Given the description of an element on the screen output the (x, y) to click on. 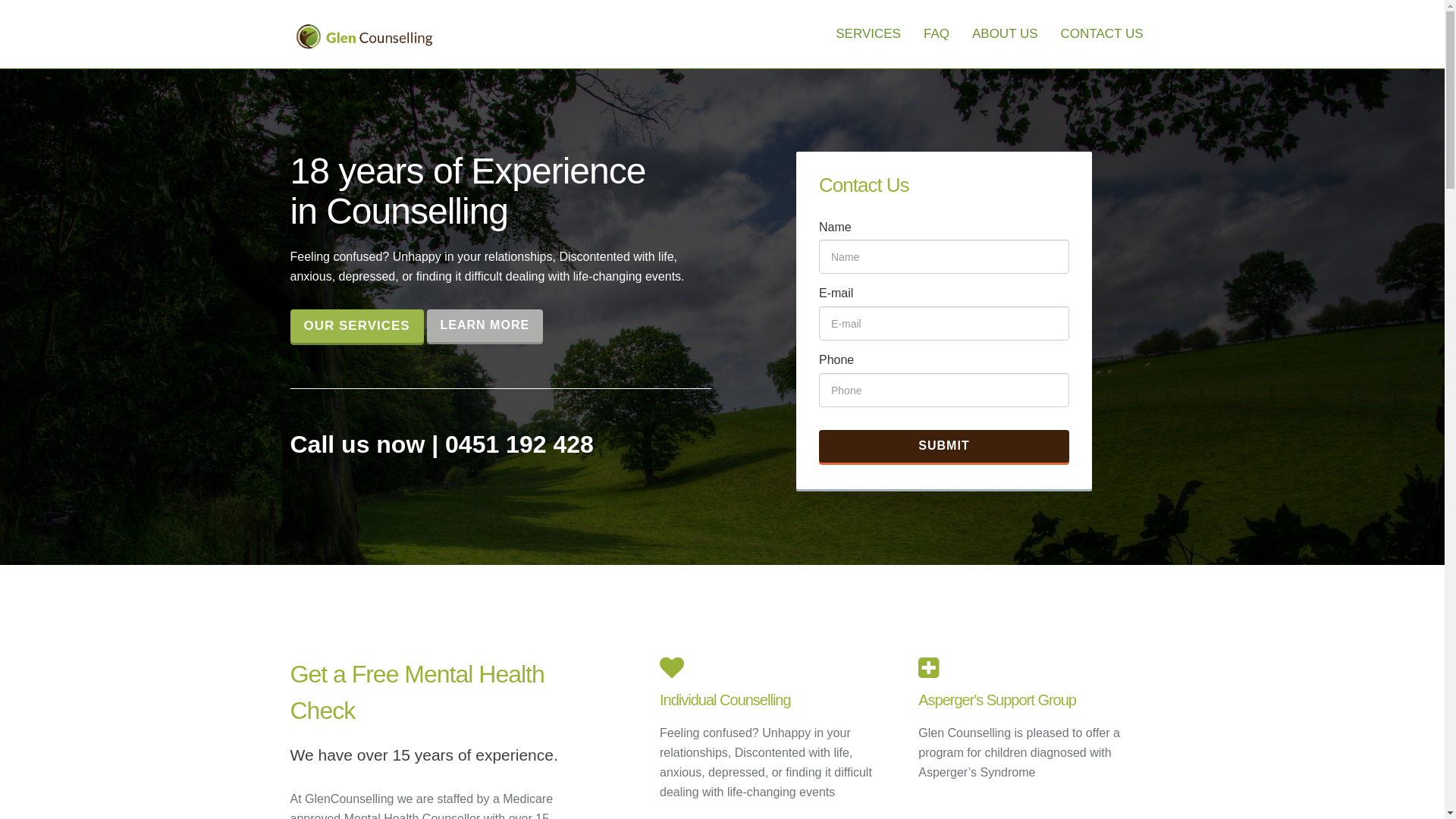
LEARN MORE Element type: text (484, 325)
OUR SERVICES Element type: text (356, 325)
SUBMIT Element type: text (944, 445)
FAQ Element type: text (936, 34)
SERVICES Element type: text (868, 34)
CONTACT US Element type: text (1101, 34)
ABOUT US Element type: text (1004, 34)
